Given the description of an element on the screen output the (x, y) to click on. 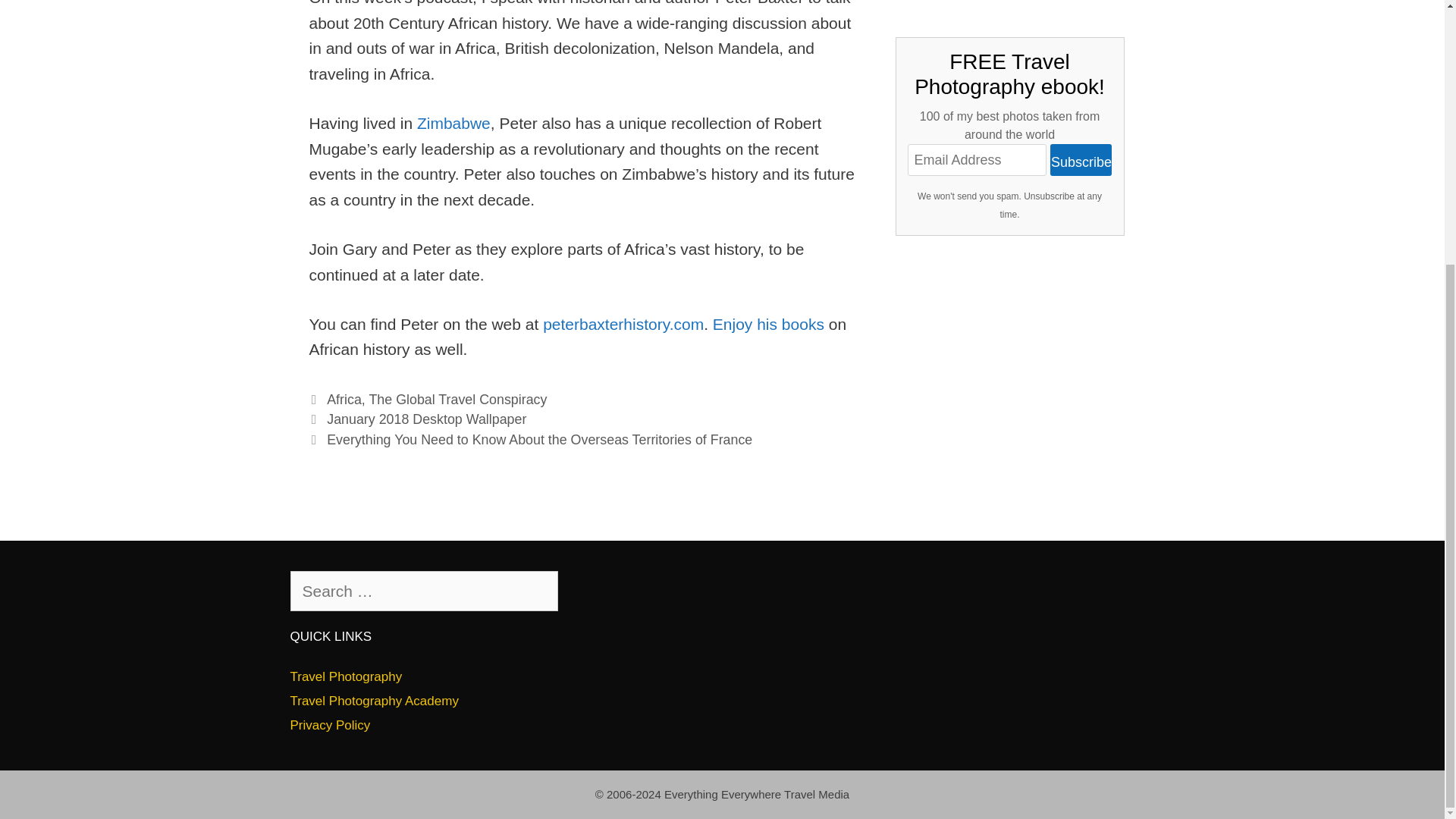
Search for: (423, 590)
January 2018 Desktop Wallpaper (425, 418)
The Global Travel Conspiracy (457, 399)
Privacy Policy (329, 725)
Zimbabwe (453, 122)
Travel Photography (345, 676)
peterbaxterhistory.com (623, 323)
Enjoy his books (768, 323)
Subscribe (1080, 160)
